Given the description of an element on the screen output the (x, y) to click on. 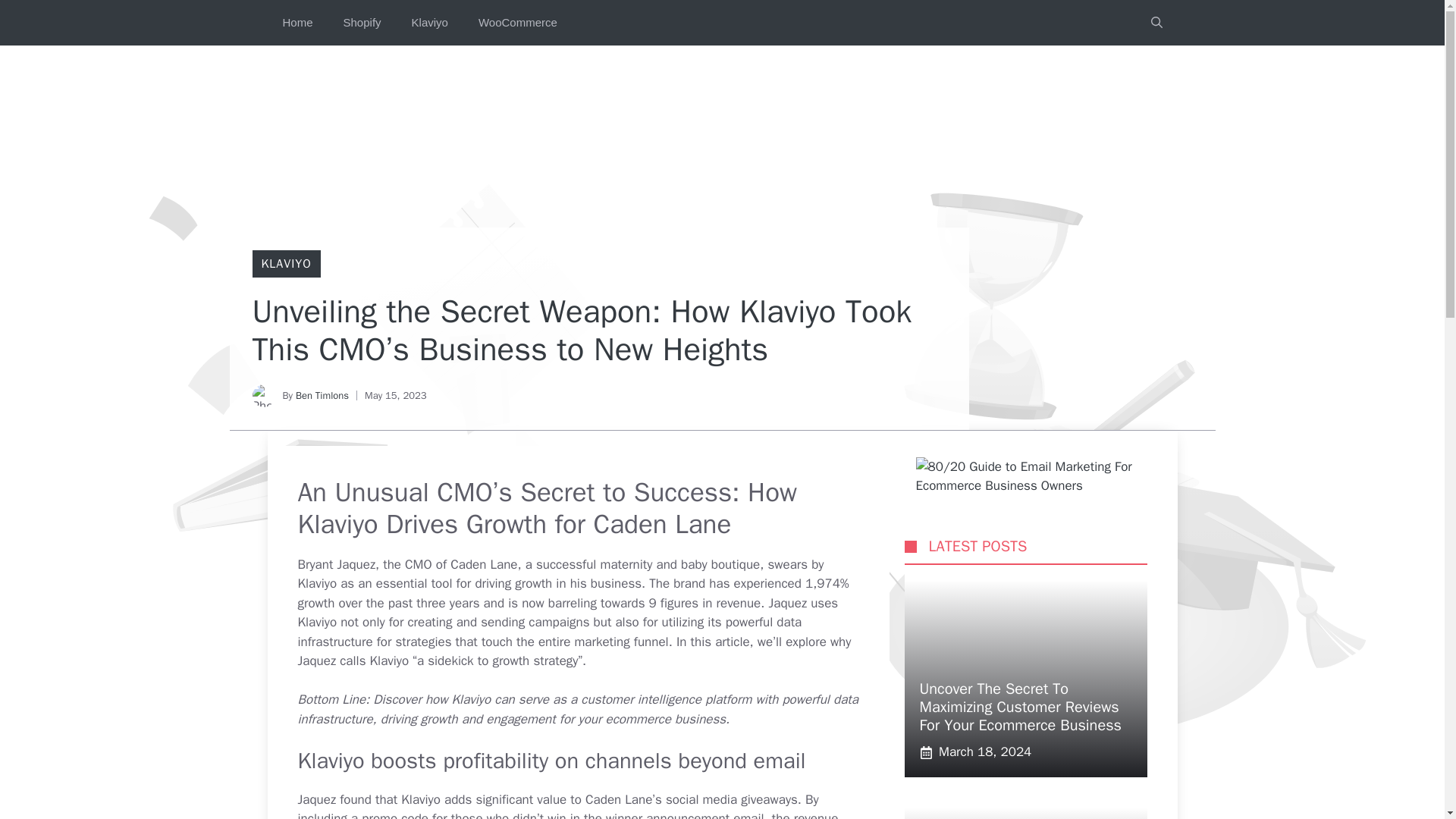
KLAVIYO (285, 263)
Klaviyo (429, 22)
email-marketing-for-ecommerce-business-owners-book-cover (1040, 476)
Ben Timlons (322, 395)
WooCommerce (517, 22)
Shopify (362, 22)
Home (296, 22)
